Given the description of an element on the screen output the (x, y) to click on. 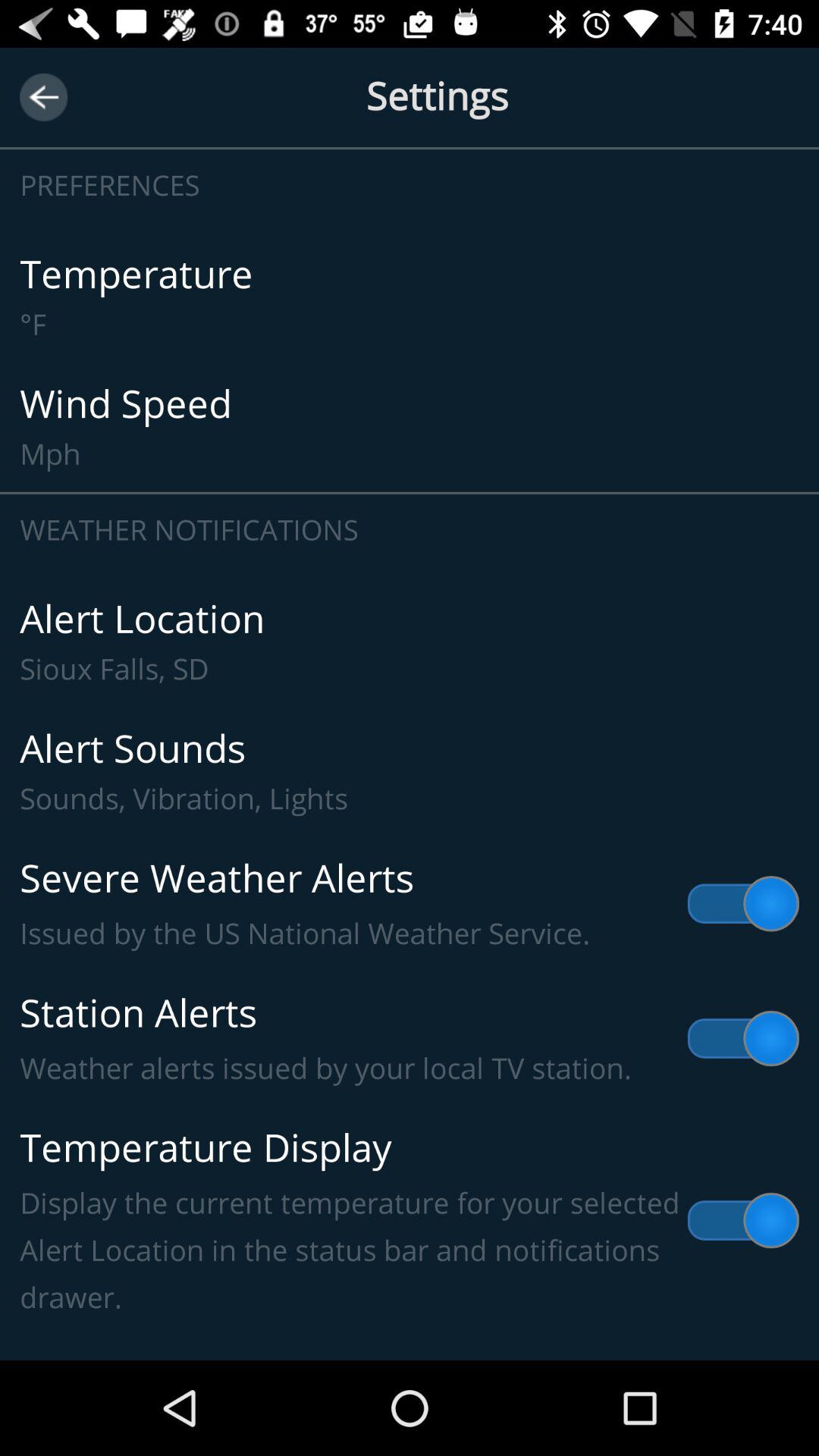
press the icon below the preferences item (409, 297)
